Given the description of an element on the screen output the (x, y) to click on. 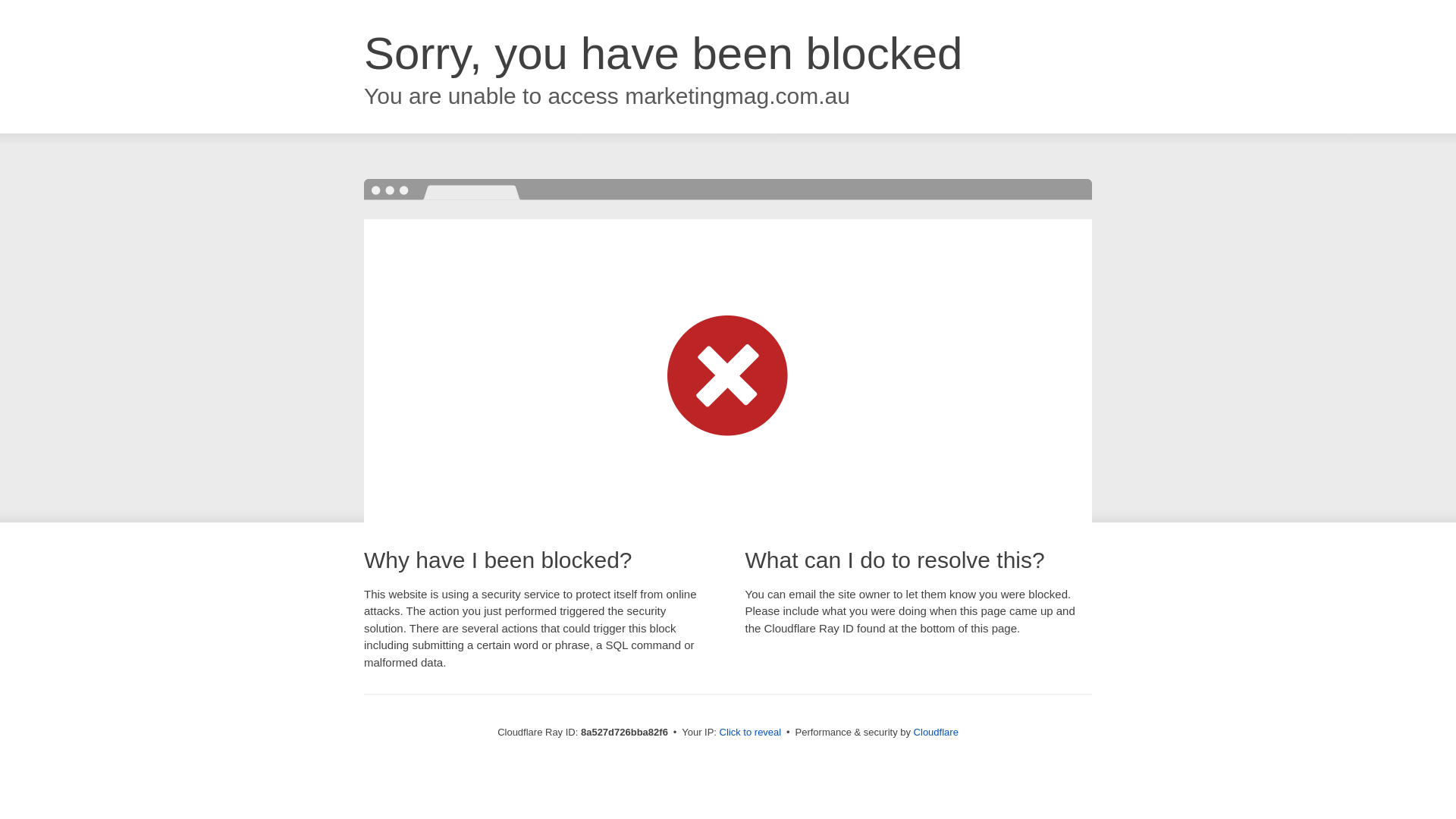
Cloudflare (936, 731)
Click to reveal (750, 732)
